Given the description of an element on the screen output the (x, y) to click on. 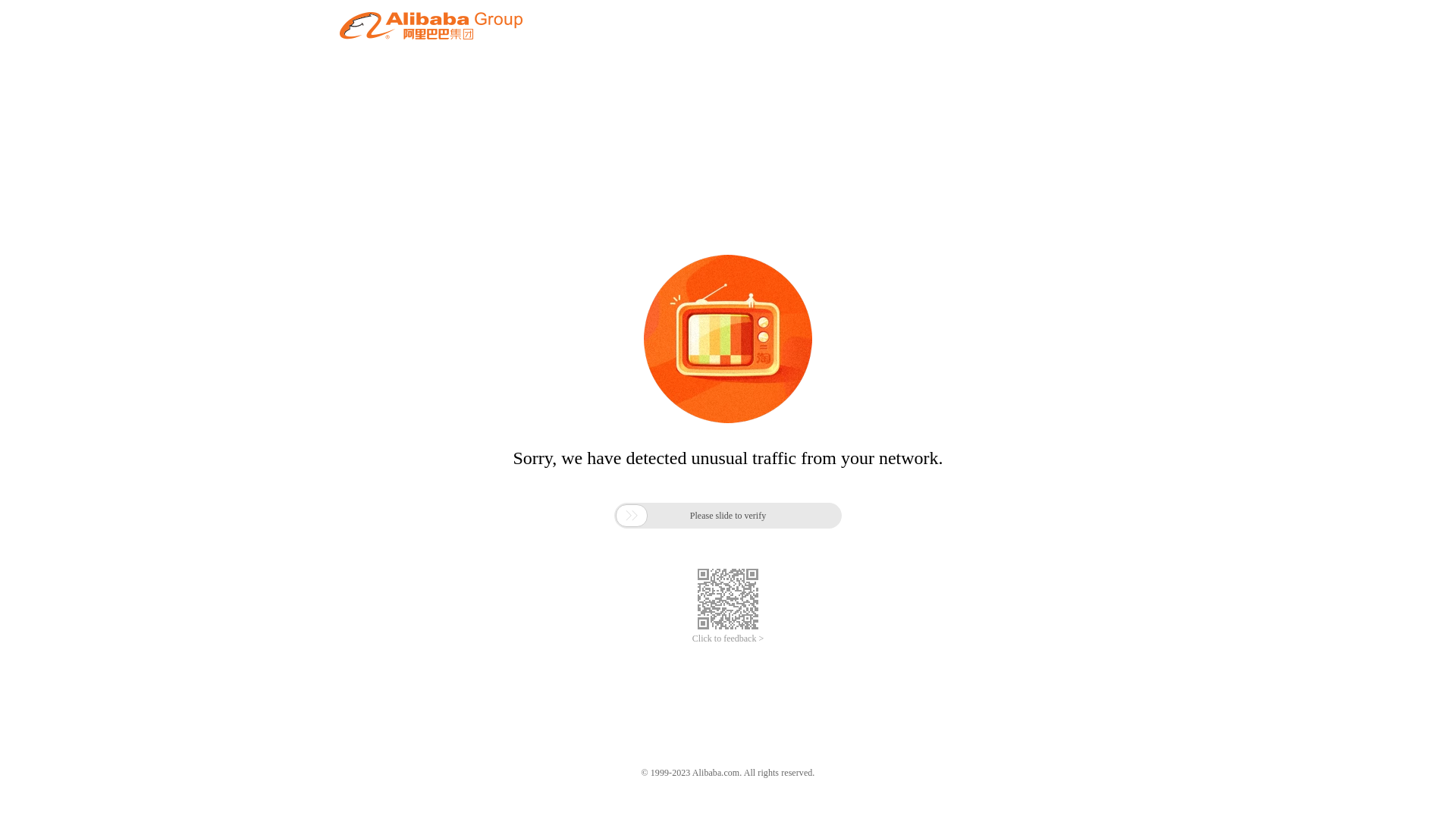
Click to feedback > Element type: text (727, 638)
